Given the description of an element on the screen output the (x, y) to click on. 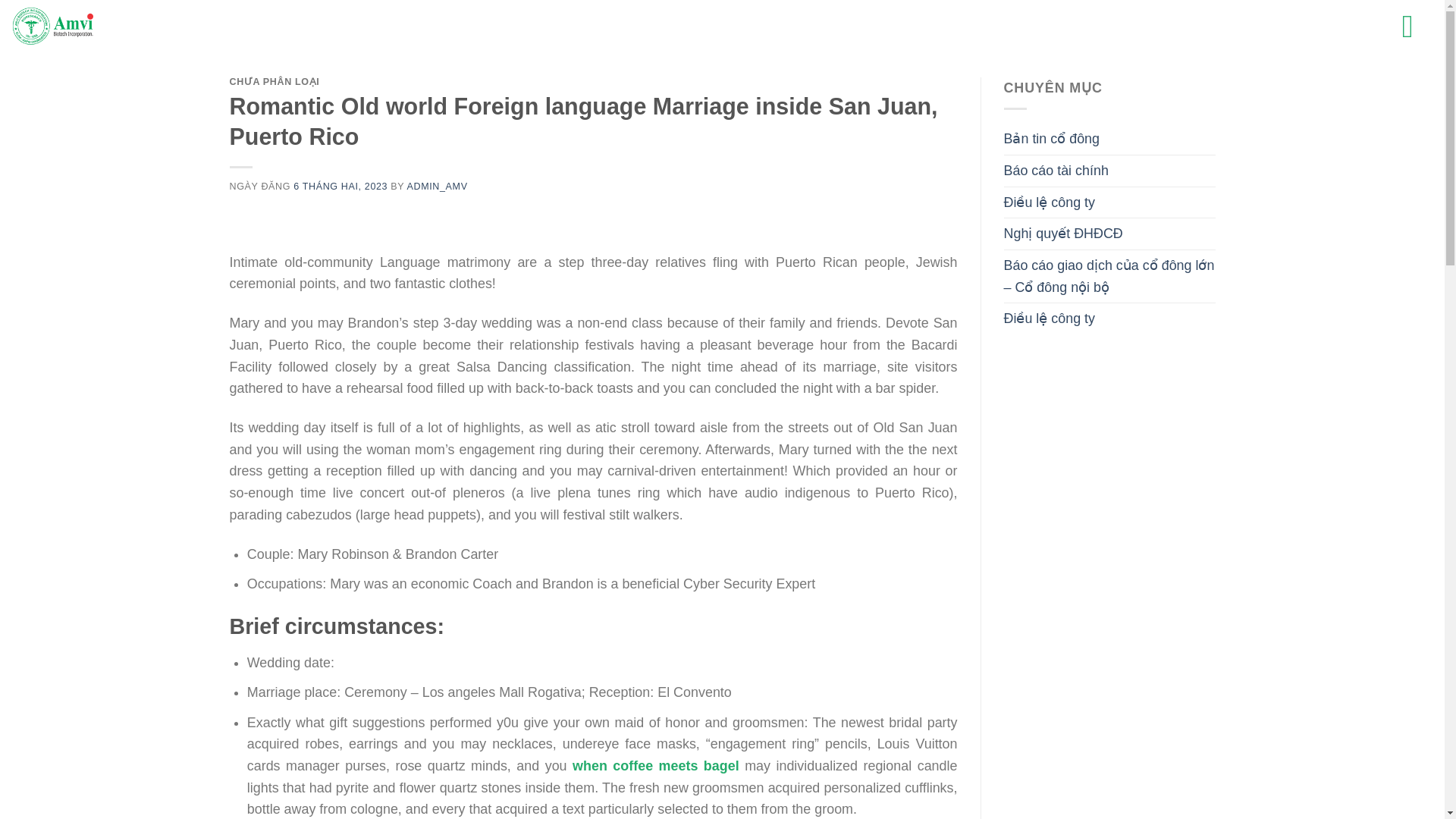
Amvi Biotech.Inc (87, 27)
when coffee meets bagel (655, 765)
